Given the description of an element on the screen output the (x, y) to click on. 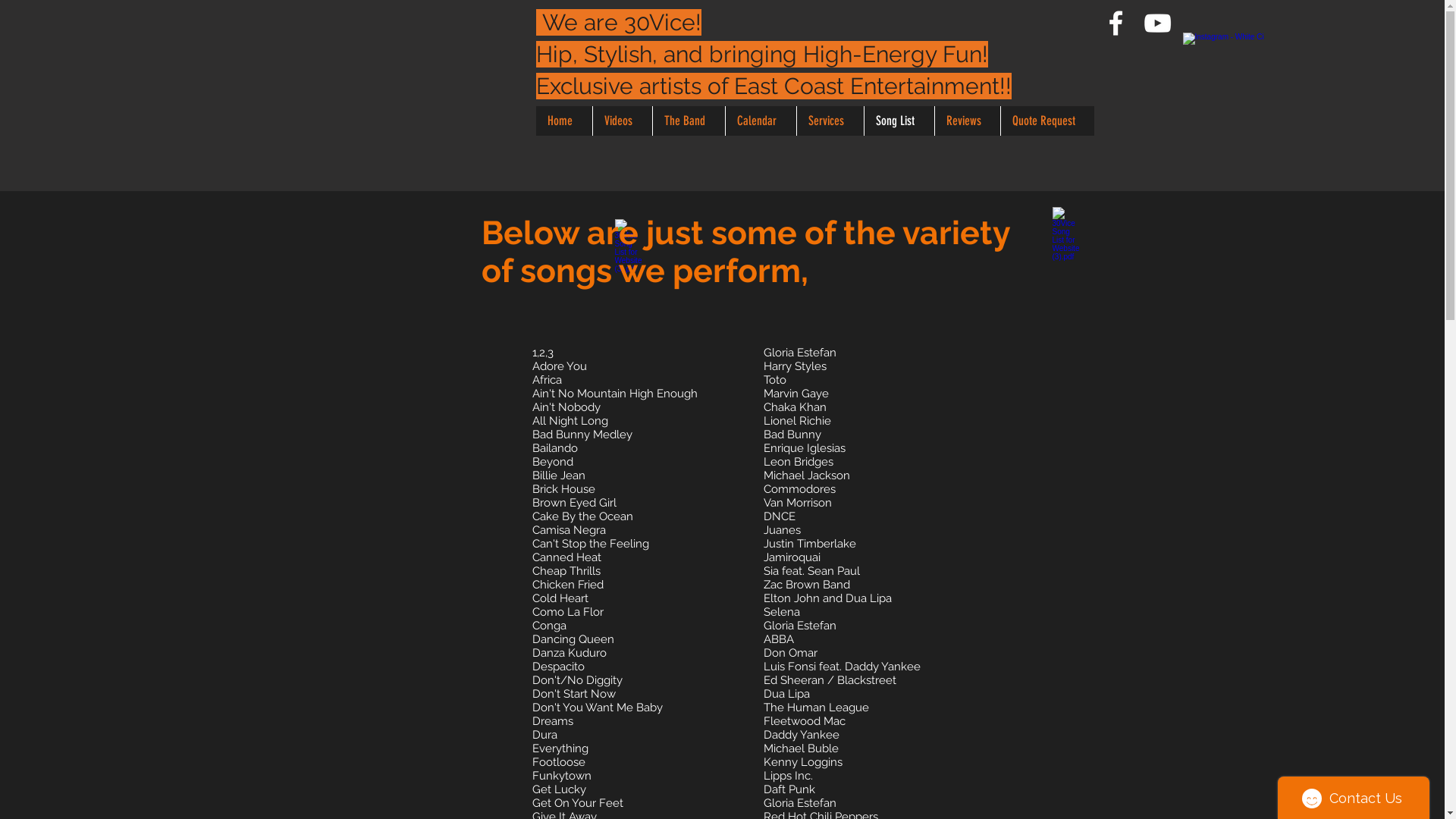
Quote Request Element type: text (1046, 120)
Reviews Element type: text (967, 120)
30Vice Song List for Website (3).pdf Element type: hover (630, 235)
Home Element type: text (563, 120)
Calendar Element type: text (760, 120)
30Vice Song List for Website (3).pdf Element type: hover (1067, 223)
Services Element type: text (829, 120)
The Band Element type: text (688, 120)
Videos Element type: text (621, 120)
Song List Element type: text (897, 120)
